Given the description of an element on the screen output the (x, y) to click on. 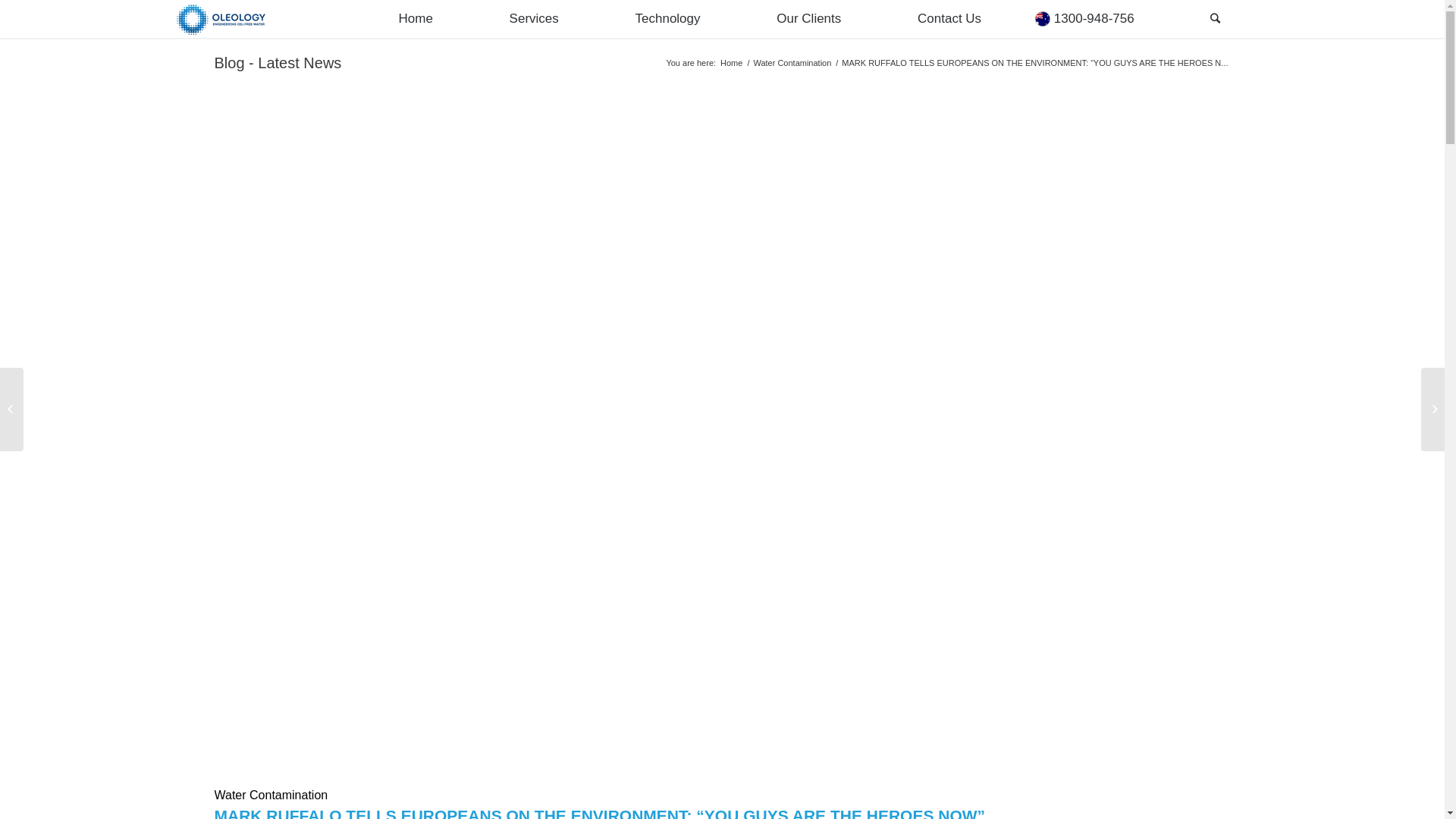
Water Contamination Element type: text (791, 63)
Home Element type: text (415, 18)
Our Clients Element type: text (808, 18)
Blog - Latest News Element type: text (277, 62)
Services Element type: text (533, 18)
Technology Element type: text (667, 18)
Home Element type: text (731, 63)
1300-948-756 Element type: text (1084, 18)
Contact Us Element type: text (949, 18)
